Given the description of an element on the screen output the (x, y) to click on. 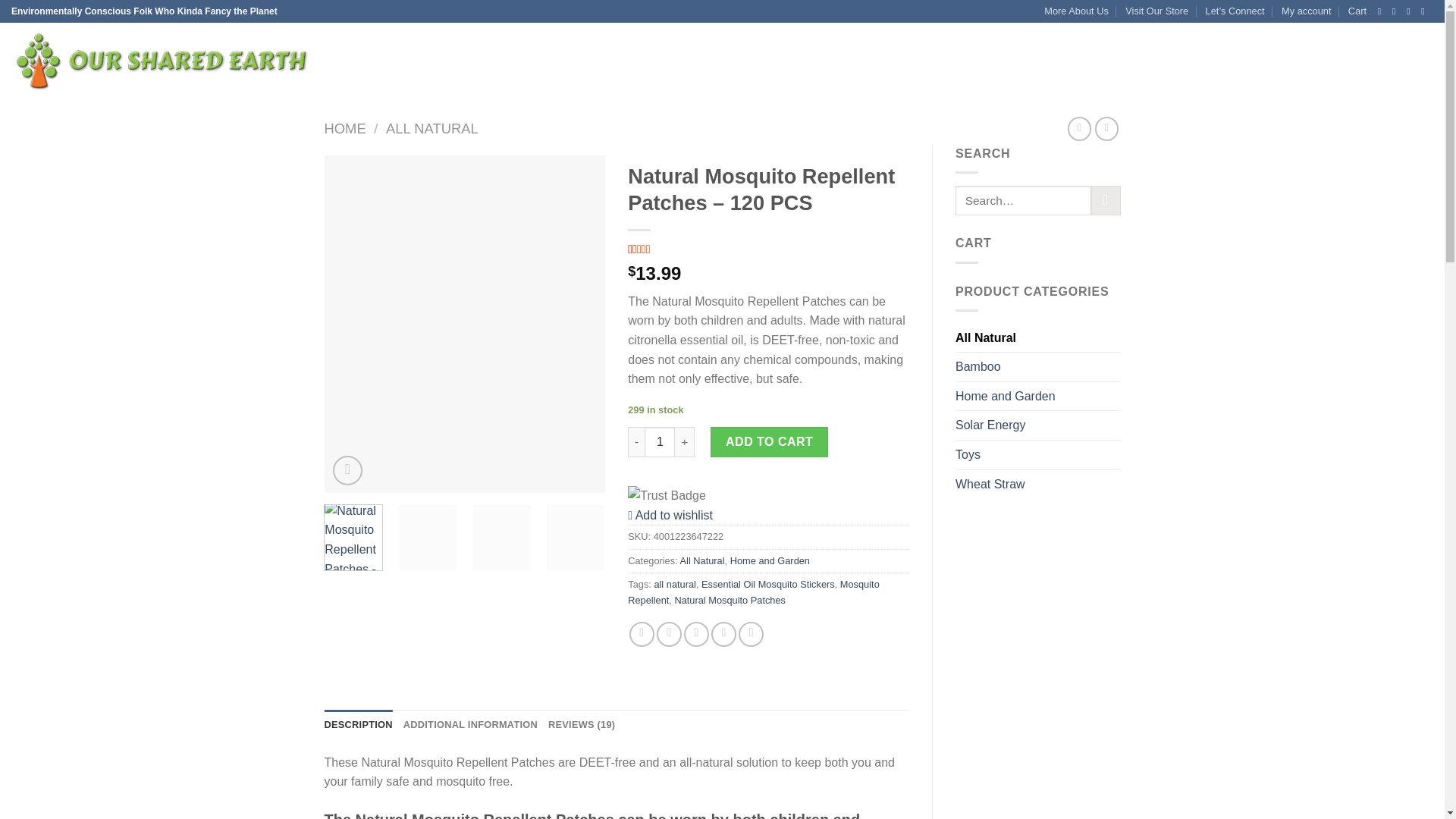
LOGIN (1304, 60)
1 (660, 441)
More About Us (1075, 11)
Cart (1387, 61)
ABOUT (559, 60)
CONTACT (611, 60)
OUR COLLECTIONS (479, 60)
MY ACCOUNT (718, 60)
ALL NATURAL (432, 128)
CART (660, 60)
HOME (345, 128)
Visit Our Store (1156, 11)
Search (1105, 200)
